Given the description of an element on the screen output the (x, y) to click on. 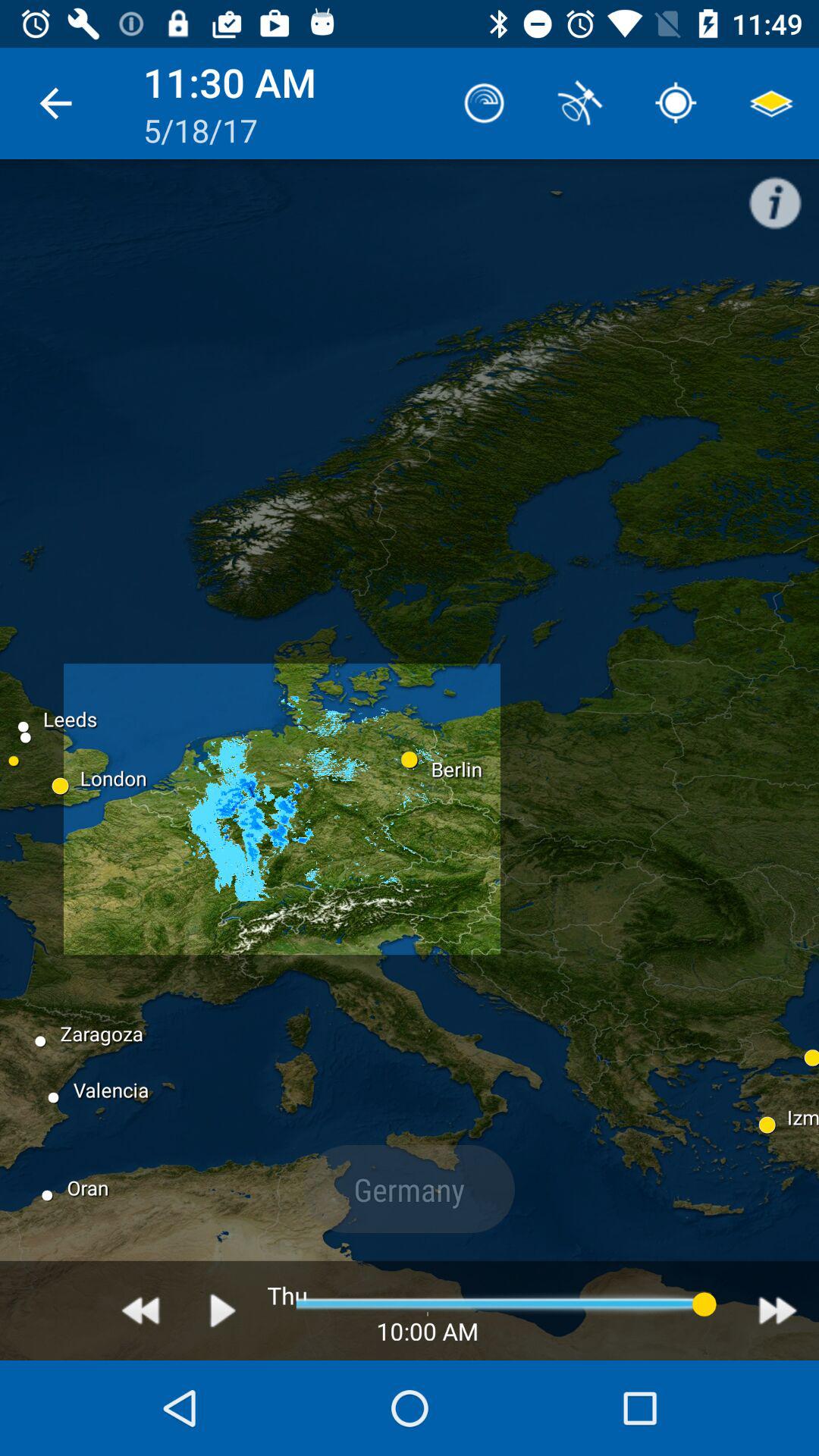
fast forward time (777, 1310)
